Given the description of an element on the screen output the (x, y) to click on. 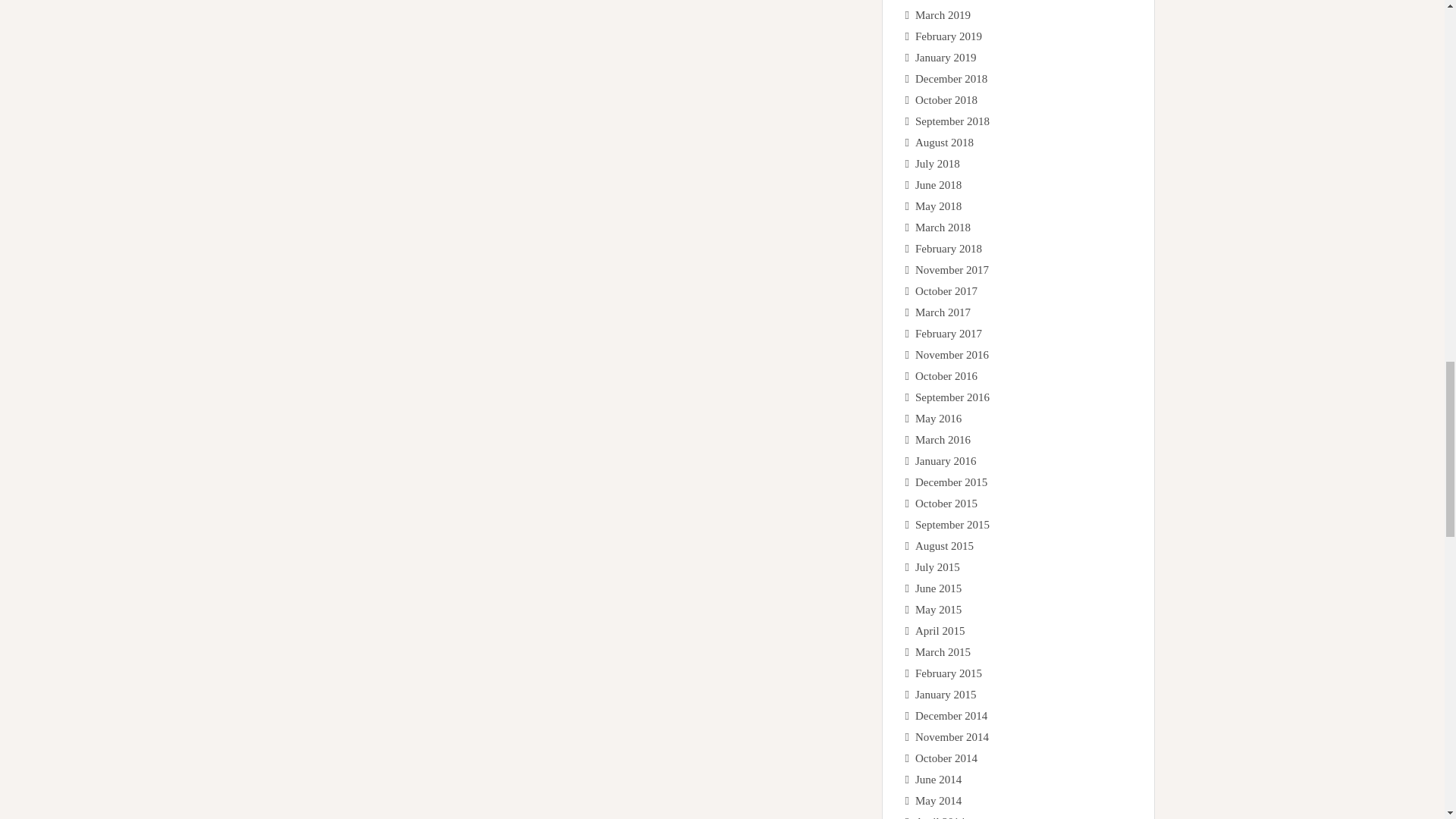
July 2018 (937, 163)
September 2018 (952, 121)
August 2018 (944, 142)
January 2019 (945, 57)
December 2018 (951, 78)
March 2019 (943, 15)
October 2018 (945, 100)
February 2019 (948, 36)
